Given the description of an element on the screen output the (x, y) to click on. 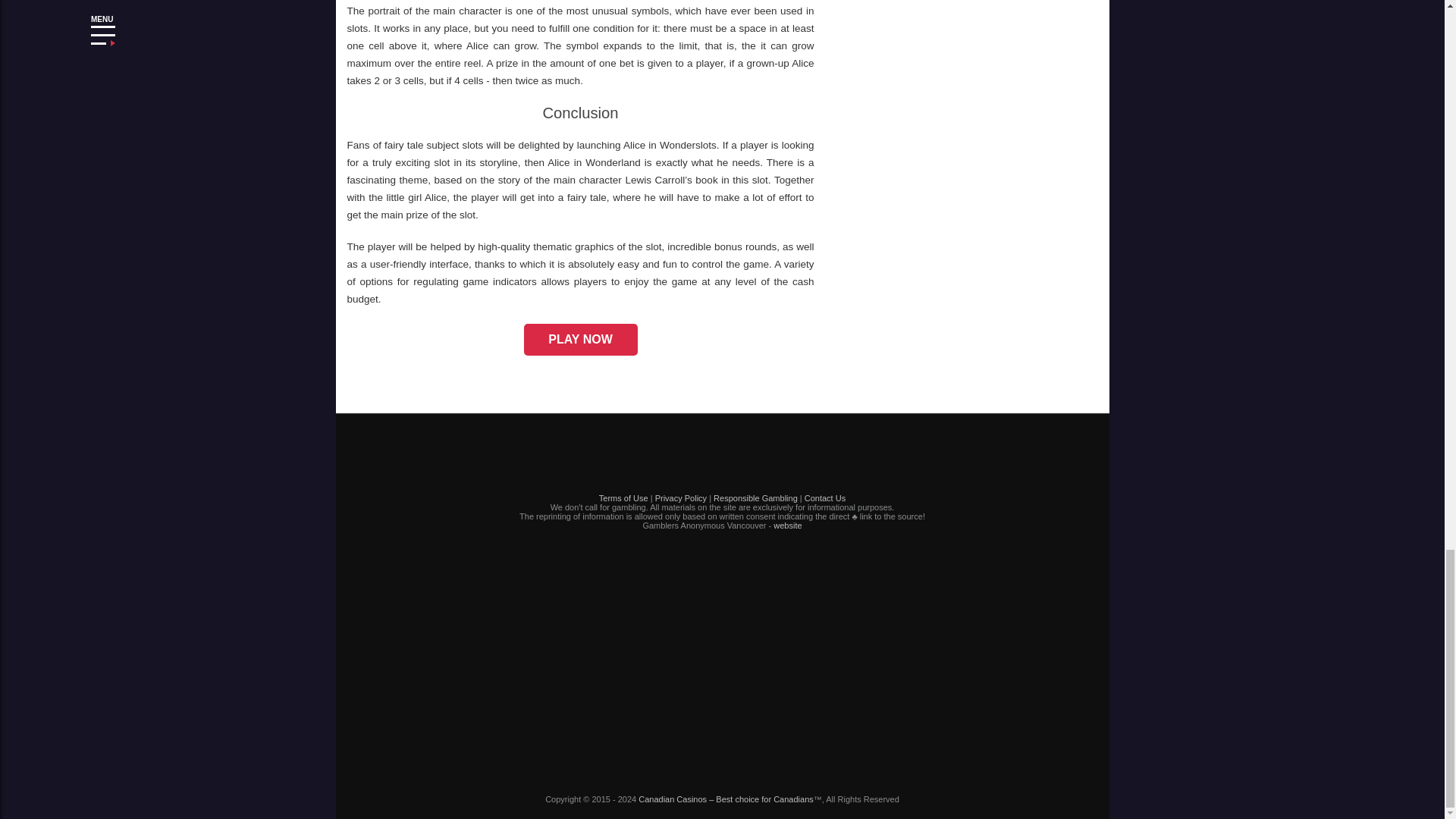
GPWA Approved Portal (721, 655)
Privacy Policy (680, 497)
Contact Us (825, 497)
Responsible Gambling (755, 497)
Terms of Use (622, 497)
